Given the description of an element on the screen output the (x, y) to click on. 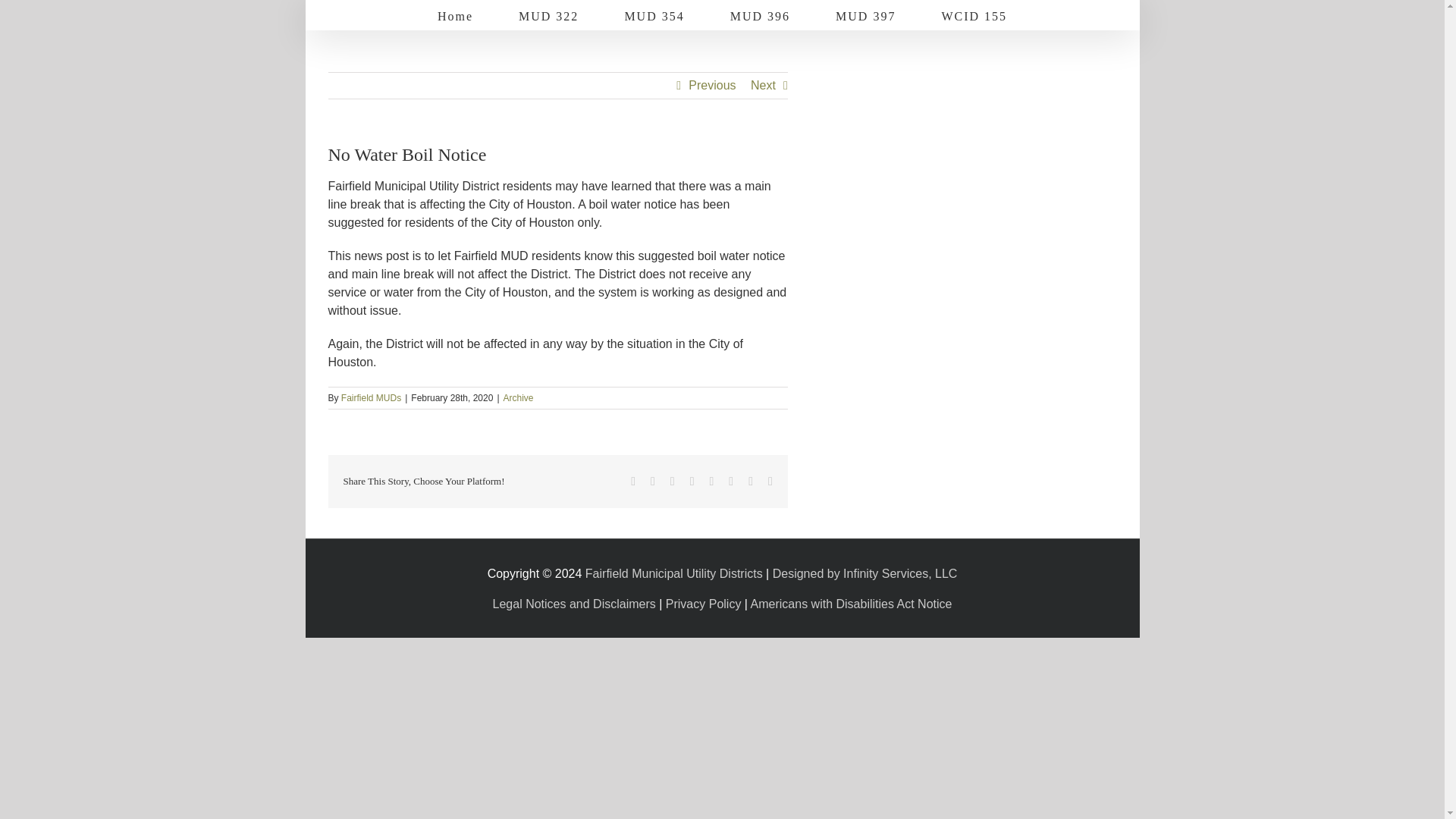
Home (455, 15)
Posts by Fairfield MUDs (370, 398)
MUD 396 (760, 15)
WCID 155 (973, 15)
MUD 397 (865, 15)
MUD 354 (654, 15)
MUD 322 (548, 15)
